Given the description of an element on the screen output the (x, y) to click on. 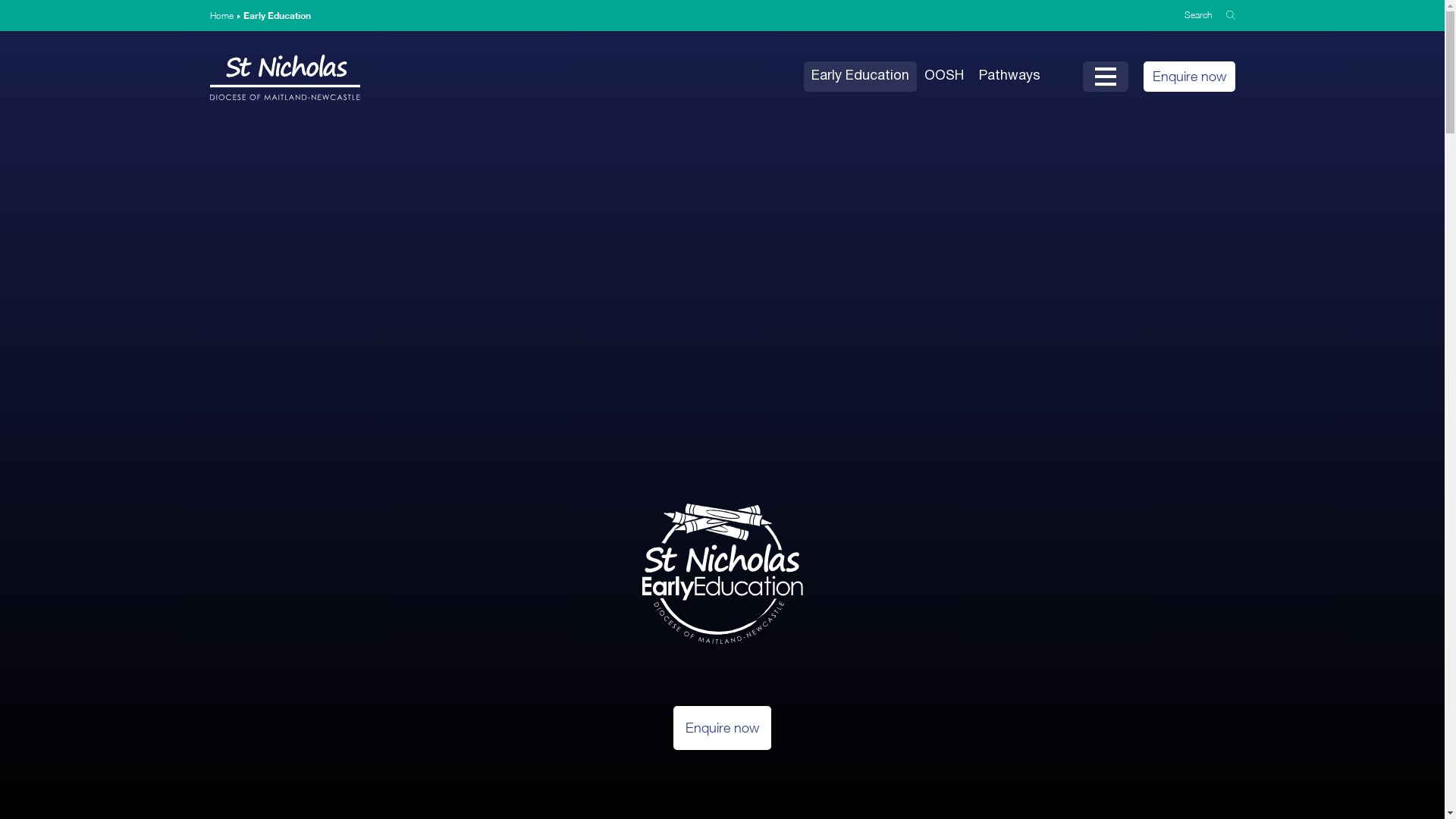
Home Element type: text (220, 15)
Open Element type: text (1105, 76)
OOSH Element type: text (943, 76)
Early Education Element type: text (859, 76)
Enquire now Element type: text (722, 727)
Enquire now Element type: text (1189, 76)
Go Element type: text (1229, 14)
Pathways Element type: text (1008, 76)
